Given the description of an element on the screen output the (x, y) to click on. 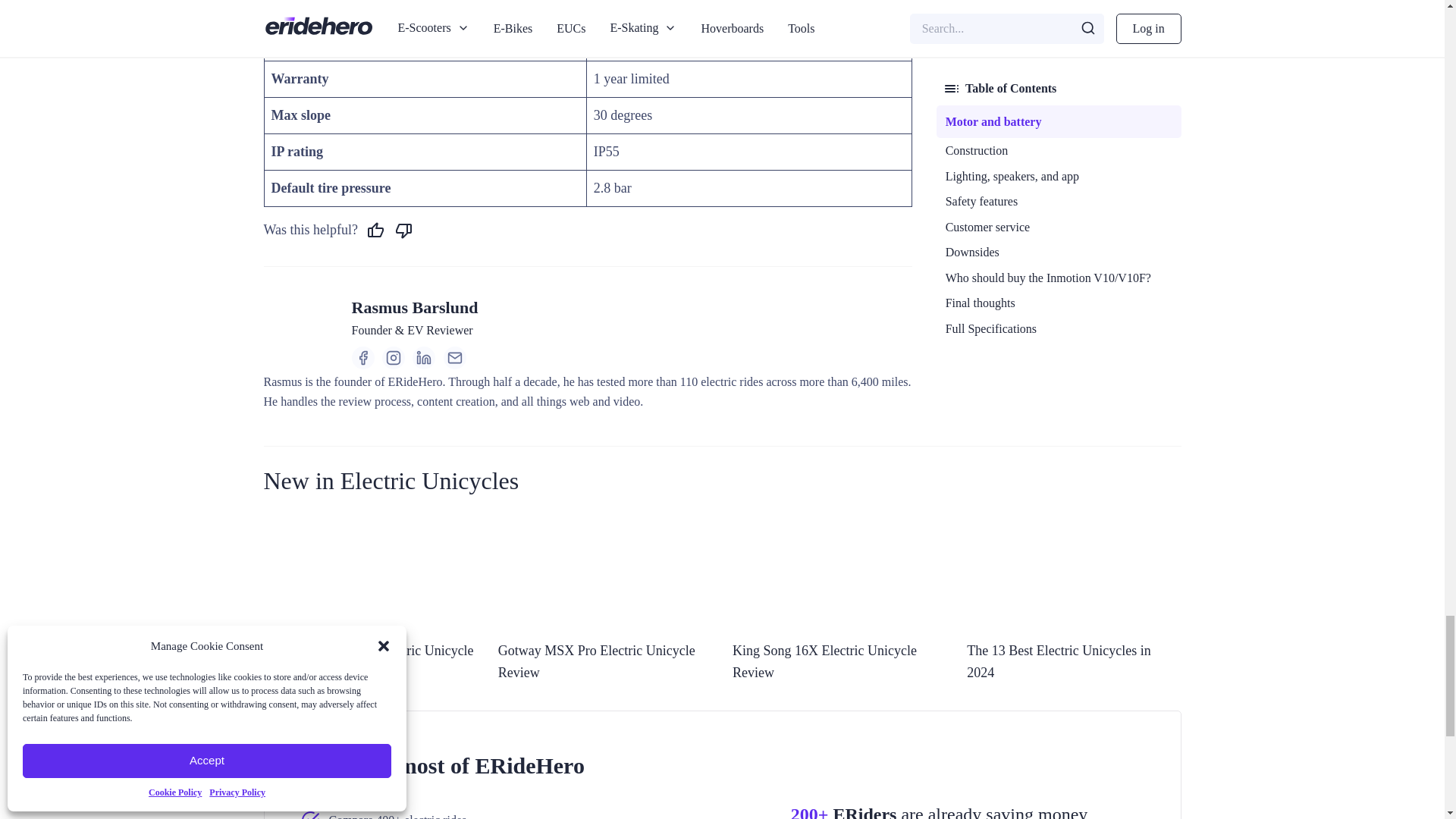
King Song 16X Electric Unicycle Review 8 (839, 573)
The 13 Best Electric Unicycles in 2024 9 (1073, 573)
Gotway MSX Pro Electric Unicycle Review 7 (604, 573)
